Given the description of an element on the screen output the (x, y) to click on. 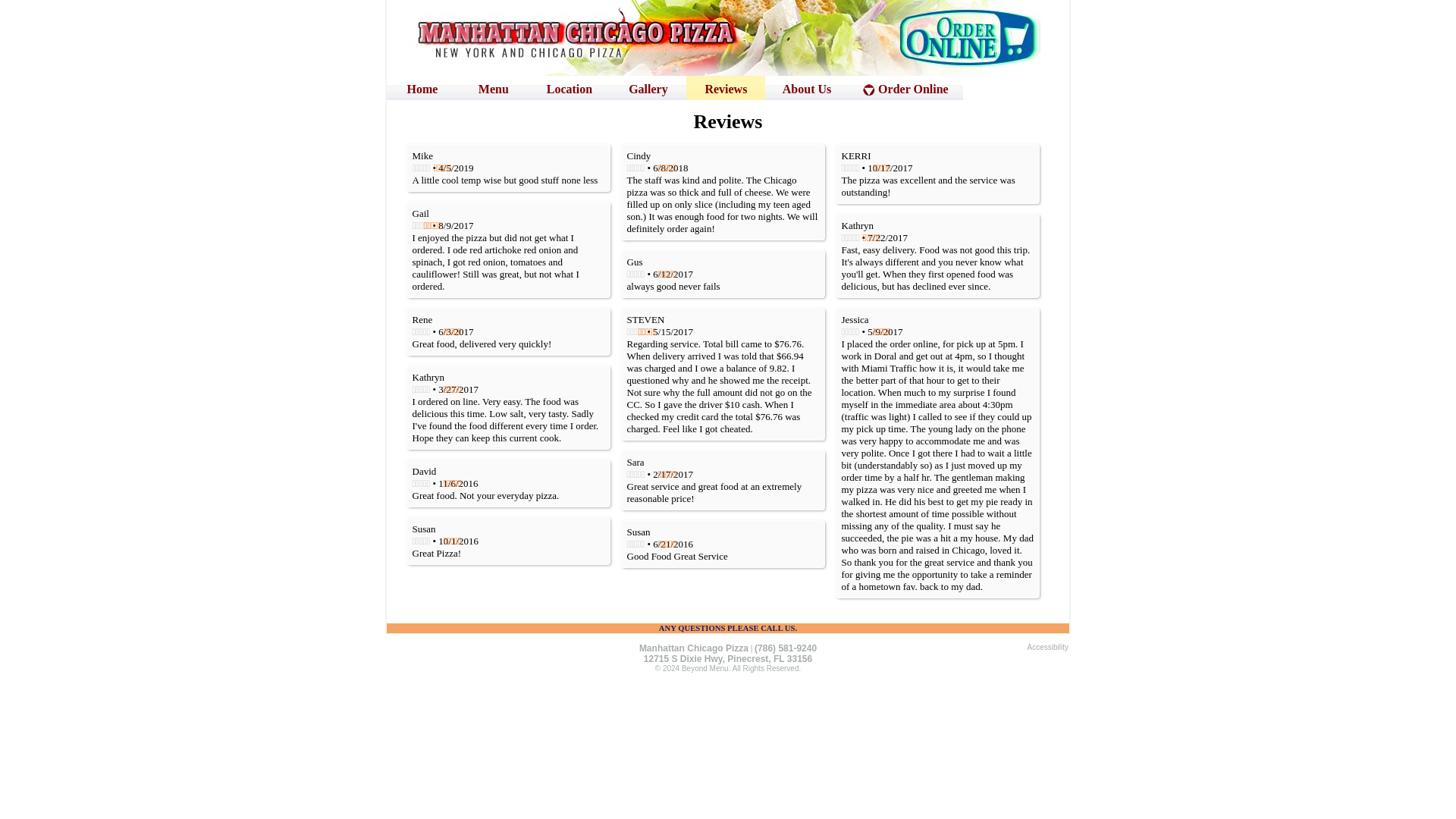
 Order Online (905, 87)
Accessibility (1047, 650)
Menu (493, 87)
Beyond Menu (705, 671)
Reviews (725, 87)
Home (422, 87)
Location (569, 87)
Gallery (647, 87)
About Us (806, 87)
